Given the description of an element on the screen output the (x, y) to click on. 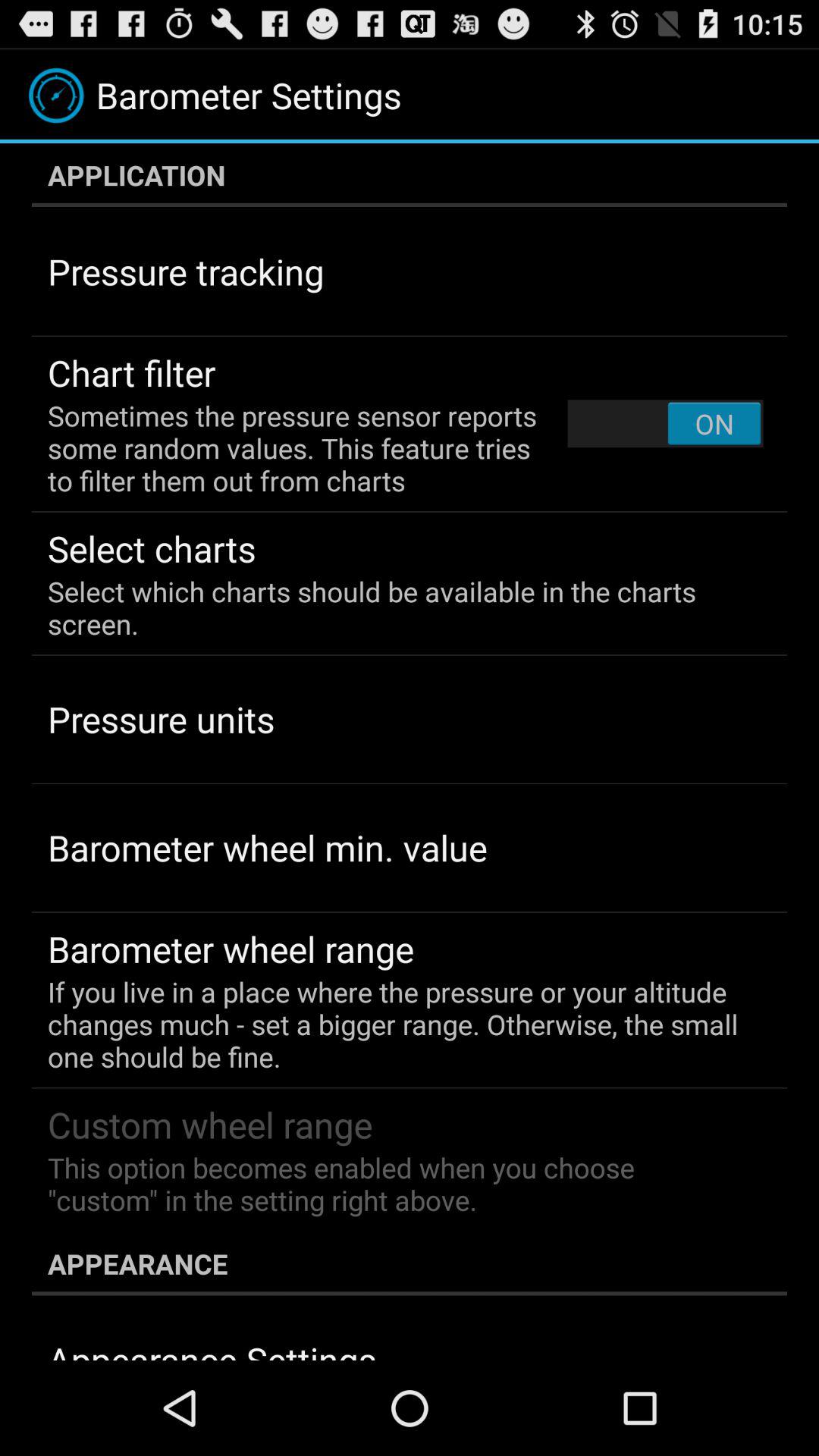
select the application app (409, 175)
